Given the description of an element on the screen output the (x, y) to click on. 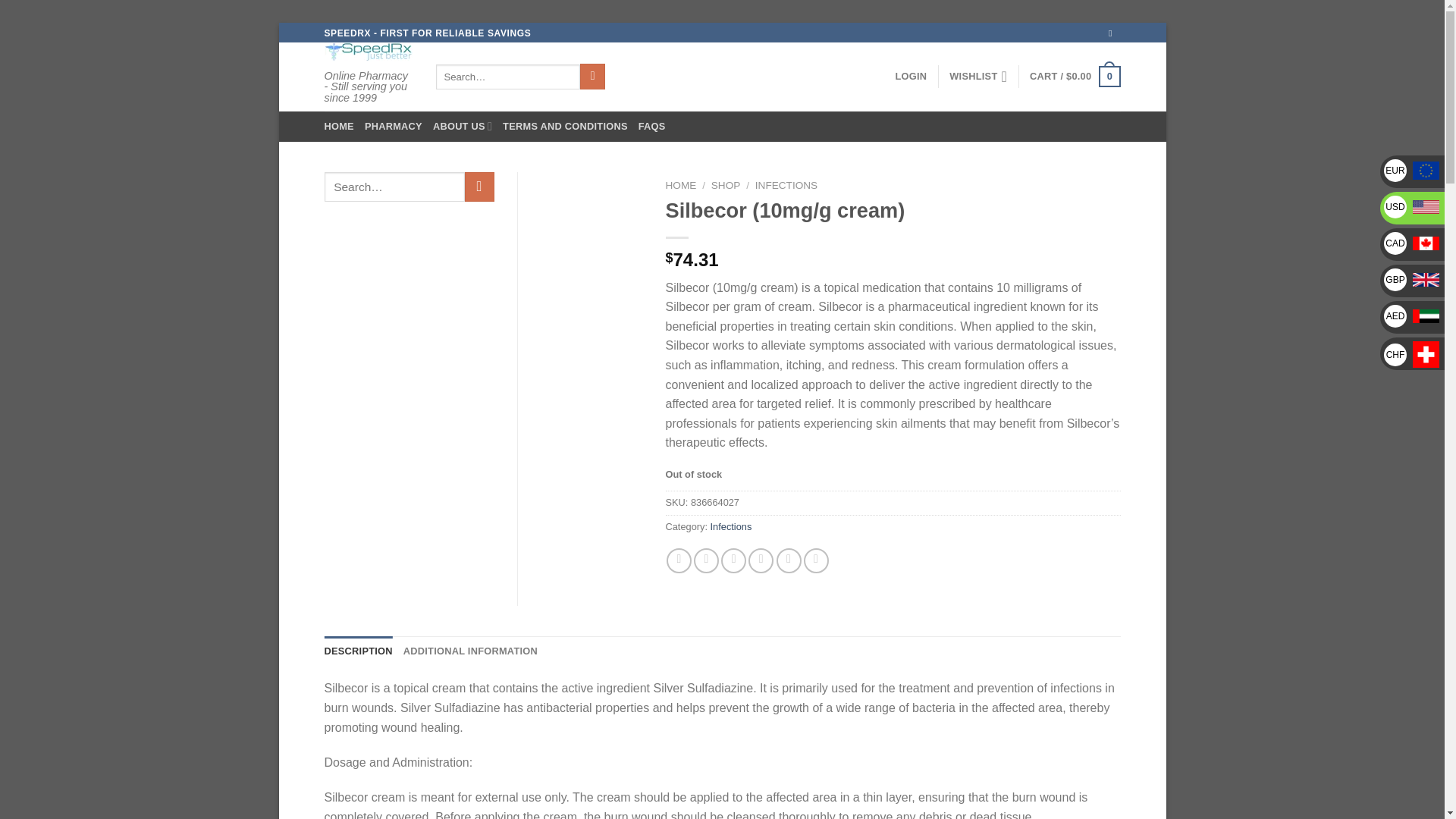
Infections (731, 526)
DESCRIPTION (358, 651)
Pin on Pinterest (760, 560)
ADDITIONAL INFORMATION (470, 651)
Share on Twitter (706, 560)
ABOUT US (462, 126)
SHOP (726, 184)
Share on Facebook (678, 560)
Email to a Friend (732, 560)
Share on Telegram (815, 560)
HOME (681, 184)
PHARMACY (393, 126)
Search (592, 76)
TERMS AND CONDITIONS (564, 126)
FAQS (652, 126)
